Given the description of an element on the screen output the (x, y) to click on. 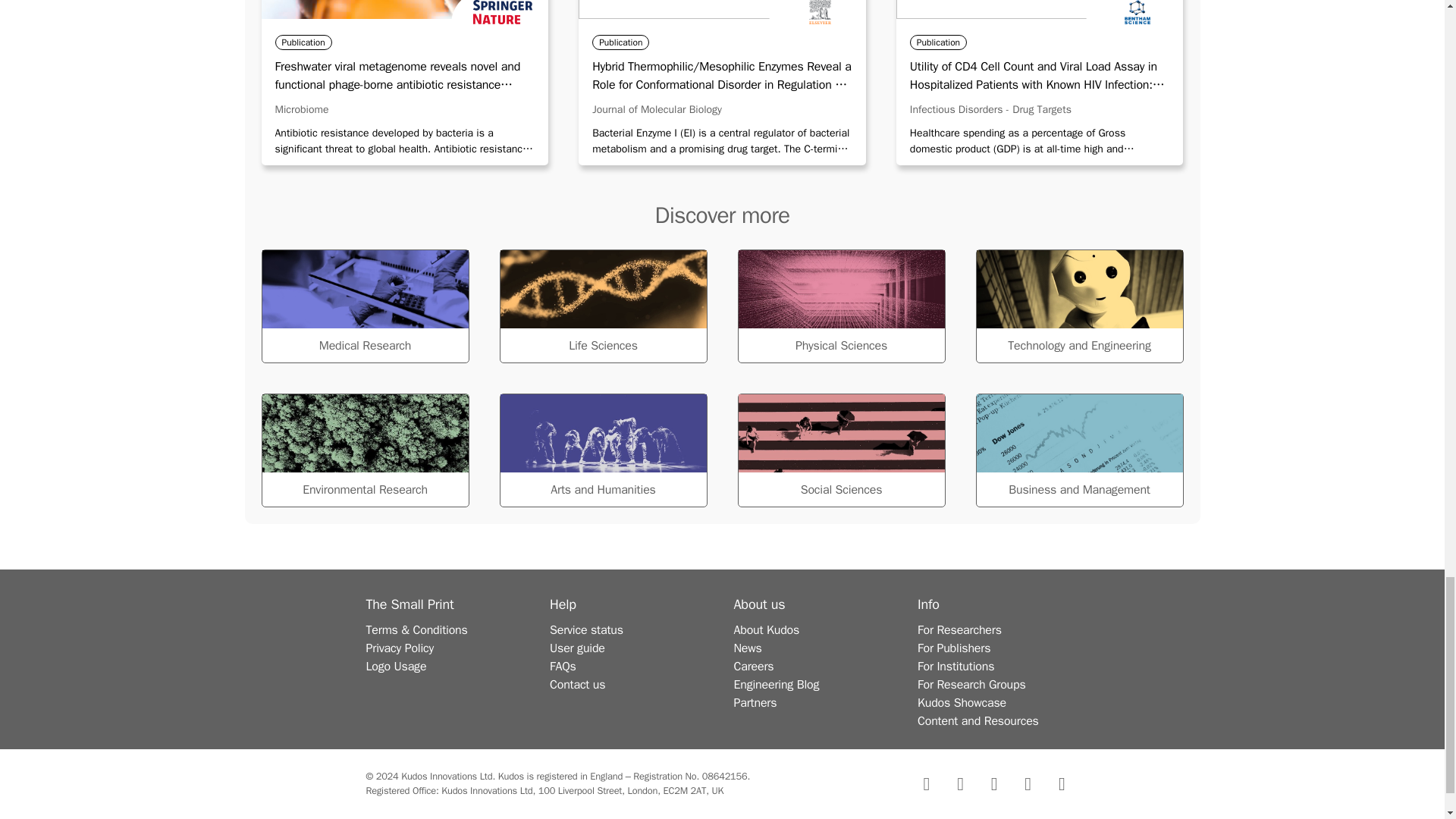
Environmental Research (364, 449)
User guide (577, 648)
News (747, 648)
Arts and Humanities (602, 449)
Business and Management (1078, 449)
Journal of Molecular Biology (657, 109)
Infectious Disorders - Drug Targets (990, 109)
Contact us (577, 684)
